Given the description of an element on the screen output the (x, y) to click on. 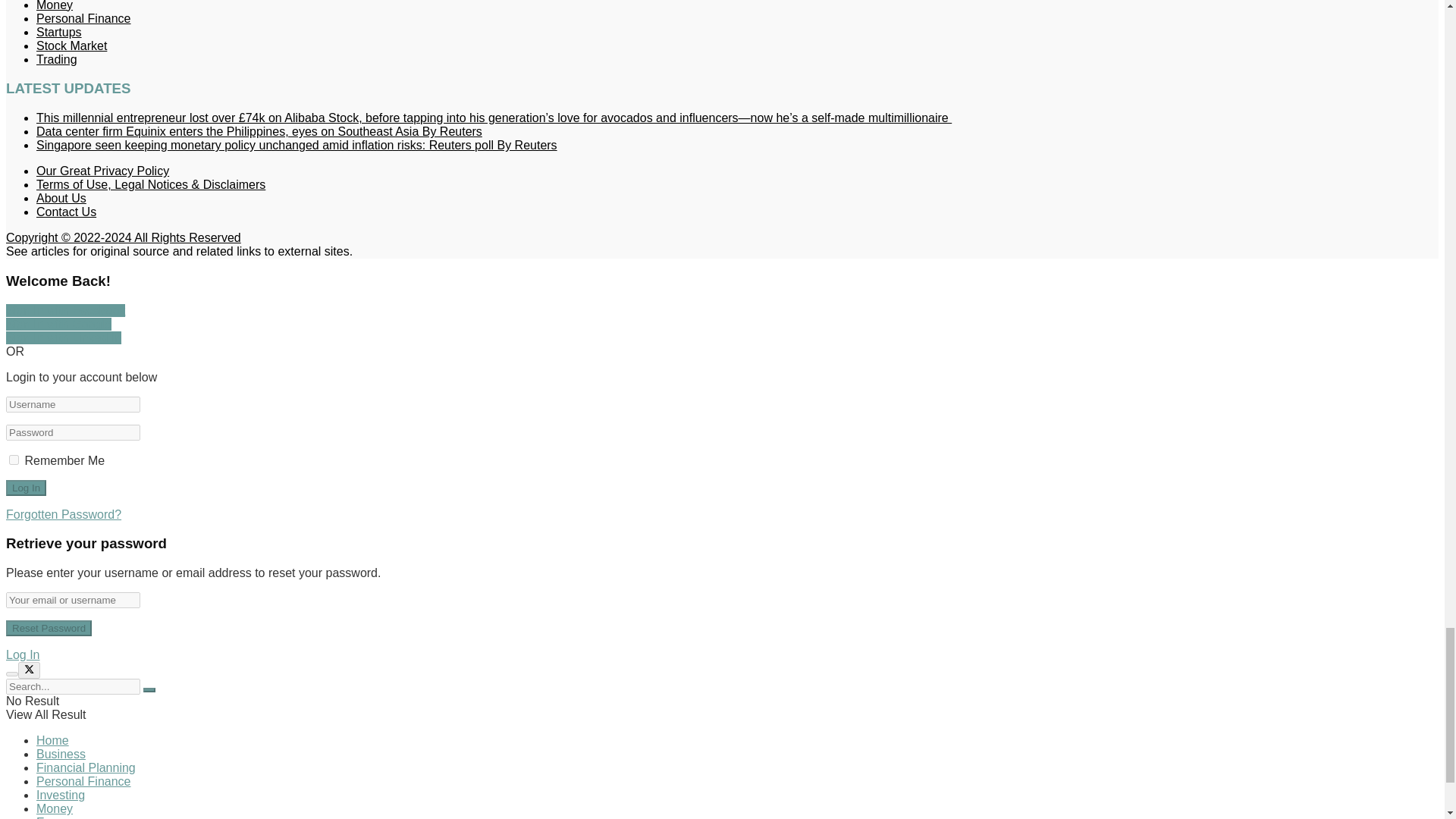
Log In (25, 487)
true (13, 460)
Reset Password (48, 627)
